Given the description of an element on the screen output the (x, y) to click on. 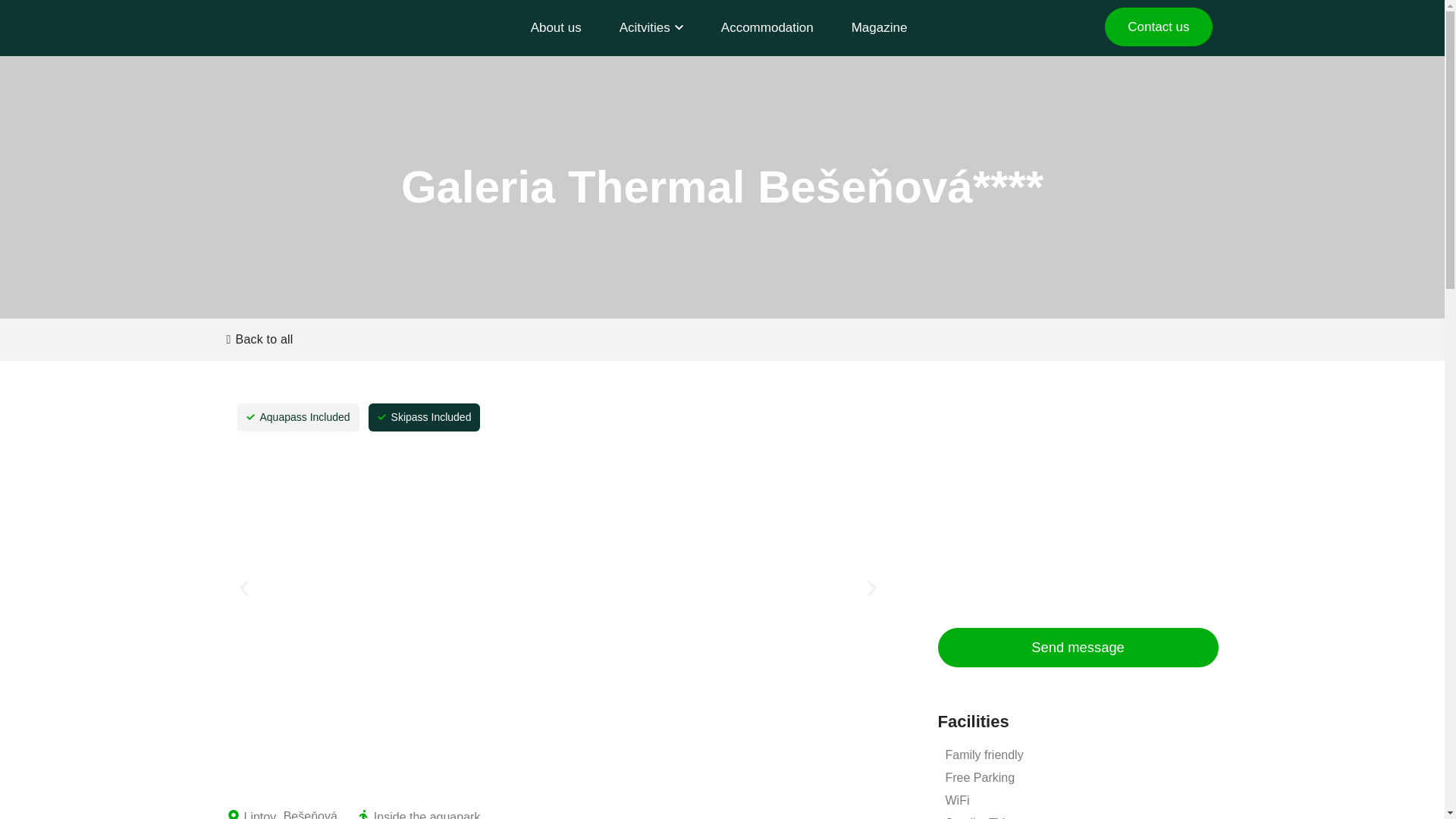
Magazine (879, 28)
Back to all (258, 338)
Accommodation (767, 28)
Acitvities (651, 28)
About us (555, 28)
Contact us (1158, 26)
